Given the description of an element on the screen output the (x, y) to click on. 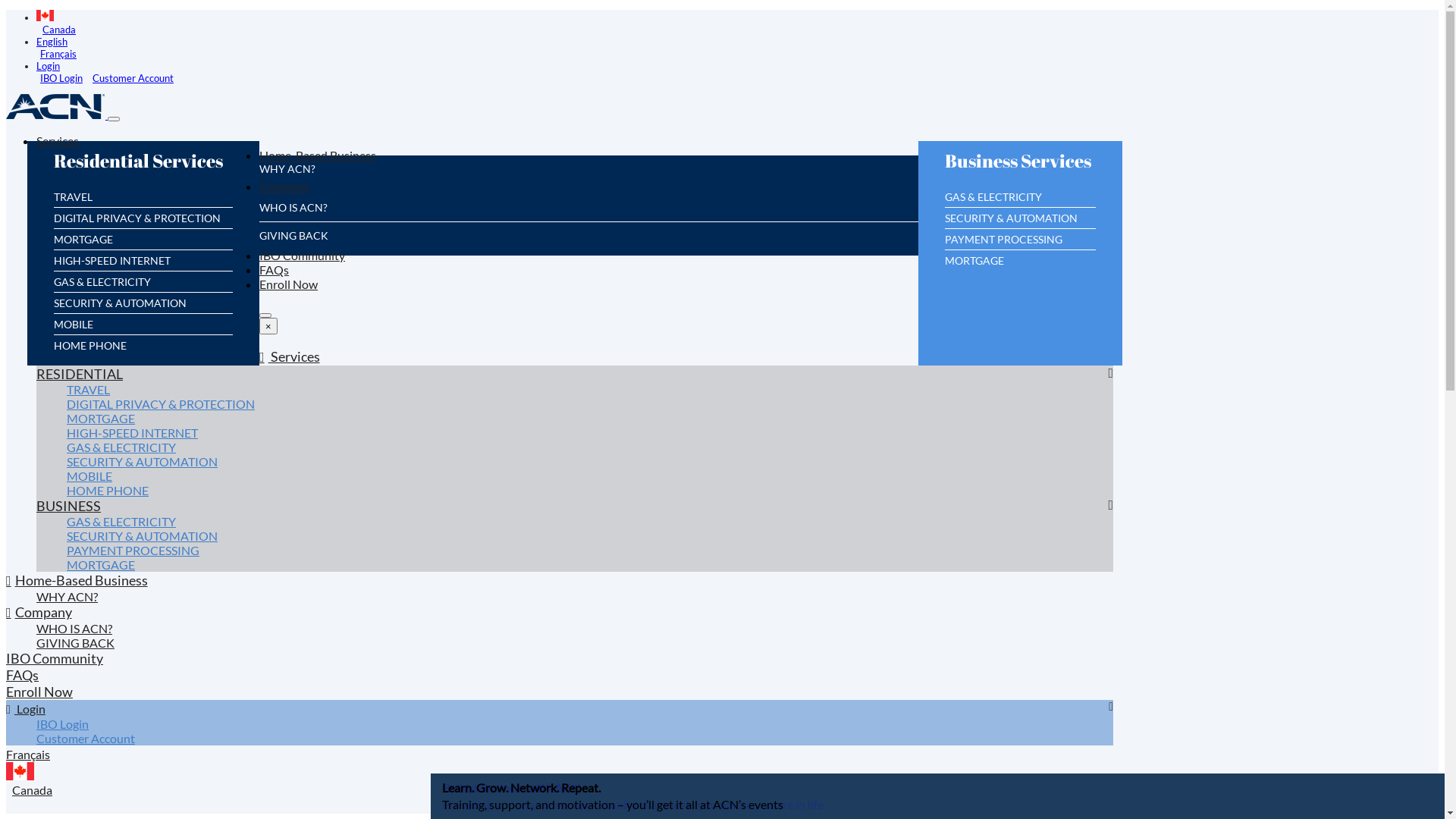
Home-Based Business Element type: text (76, 585)
RESIDENTIAL Element type: text (79, 379)
Login Element type: text (47, 65)
IBO Login Element type: text (62, 729)
Customer Account Element type: text (85, 743)
Customer Account Element type: text (132, 78)
SECURITY & AUTOMATION Element type: text (119, 308)
Login Element type: text (25, 714)
WHO IS ACN? Element type: text (293, 212)
SECURITY & AUTOMATION Element type: text (141, 467)
DIGITAL PRIVACY & PROTECTION Element type: text (160, 409)
Services Element type: text (289, 361)
MOBILE Element type: text (89, 481)
MORTGAGE Element type: text (100, 423)
MOBILE Element type: text (73, 329)
WHY ACN? Element type: text (287, 174)
IBO Community Element type: text (302, 260)
Canada Element type: text (574, 22)
English Element type: text (51, 41)
Residential Services Element type: text (141, 168)
HIGH-SPEED INTERNET Element type: text (111, 265)
BUSINESS Element type: text (68, 511)
MORTGAGE Element type: text (100, 570)
SECURITY & AUTOMATION Element type: text (141, 541)
GAS & ELECTRICITY Element type: text (101, 287)
FAQs Element type: text (273, 275)
PAYMENT PROCESSING Element type: text (132, 555)
HOME PHONE Element type: text (89, 350)
IBO Login Element type: text (61, 78)
TRAVEL Element type: text (87, 395)
MORTGAGE Element type: text (974, 265)
GAS & ELECTRICITY Element type: text (120, 452)
Services Element type: text (57, 146)
HIGH-SPEED INTERNET Element type: text (131, 438)
GIVING BACK Element type: text (75, 648)
WHY ACN? Element type: text (66, 602)
DIGITAL PRIVACY & PROTECTION Element type: text (136, 223)
Company Element type: text (39, 617)
TRAVEL Element type: text (72, 202)
Business Services Element type: text (1021, 168)
Enroll Now Element type: text (39, 697)
WHO IS ACN? Element type: text (74, 633)
MORTGAGE Element type: text (82, 244)
GIVING BACK Element type: text (293, 240)
Enroll Now Element type: text (288, 289)
GAS & ELECTRICITY Element type: text (992, 202)
GAS & ELECTRICITY Element type: text (120, 527)
Company Element type: text (284, 191)
IBO Community Element type: text (54, 663)
FAQs Element type: text (22, 680)
Home-Based Business Element type: text (317, 160)
HOME PHONE Element type: text (107, 495)
PAYMENT PROCESSING Element type: text (1003, 244)
SECURITY & AUTOMATION Element type: text (1010, 223)
